Given the description of an element on the screen output the (x, y) to click on. 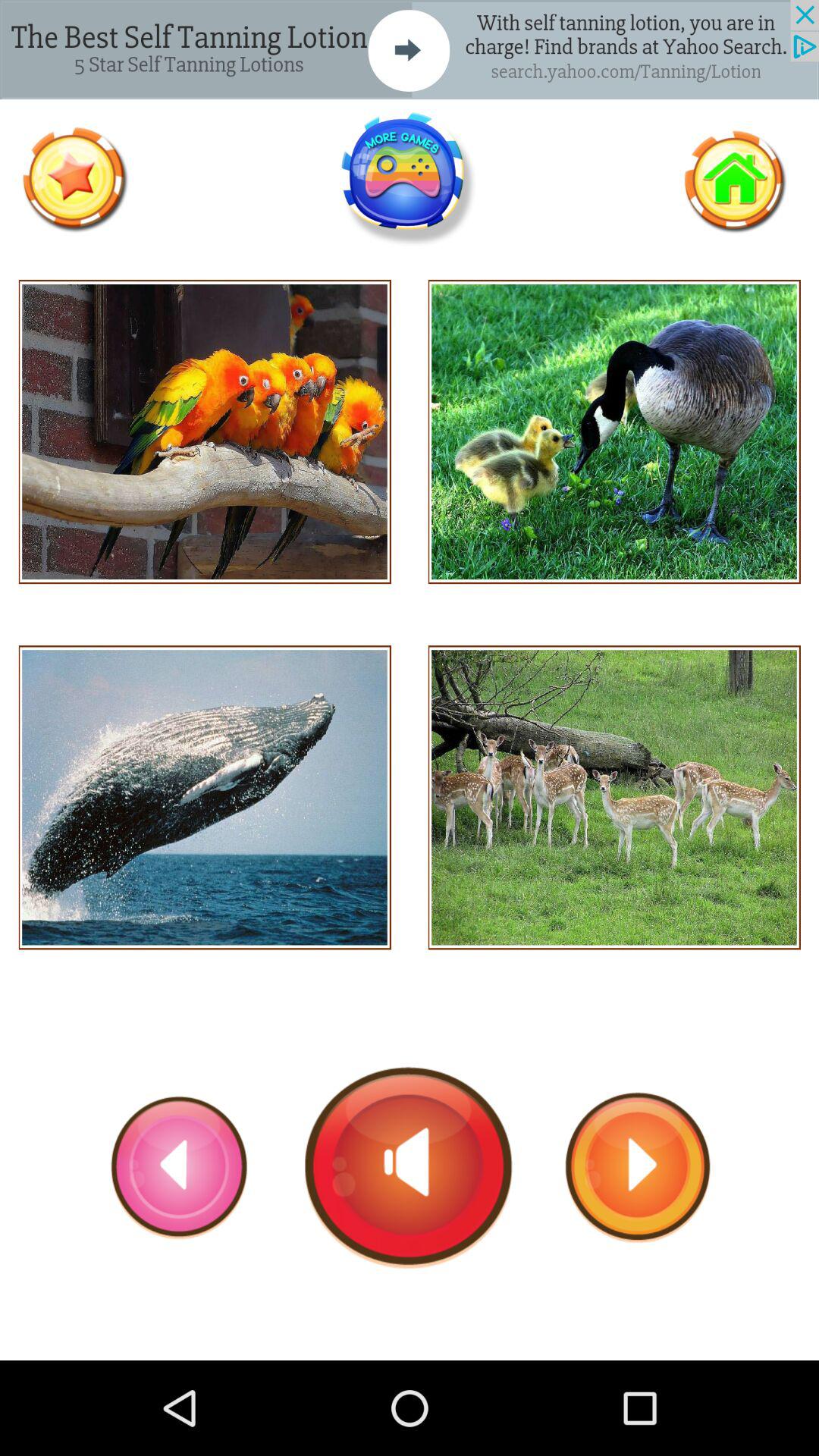
image button (614, 431)
